Given the description of an element on the screen output the (x, y) to click on. 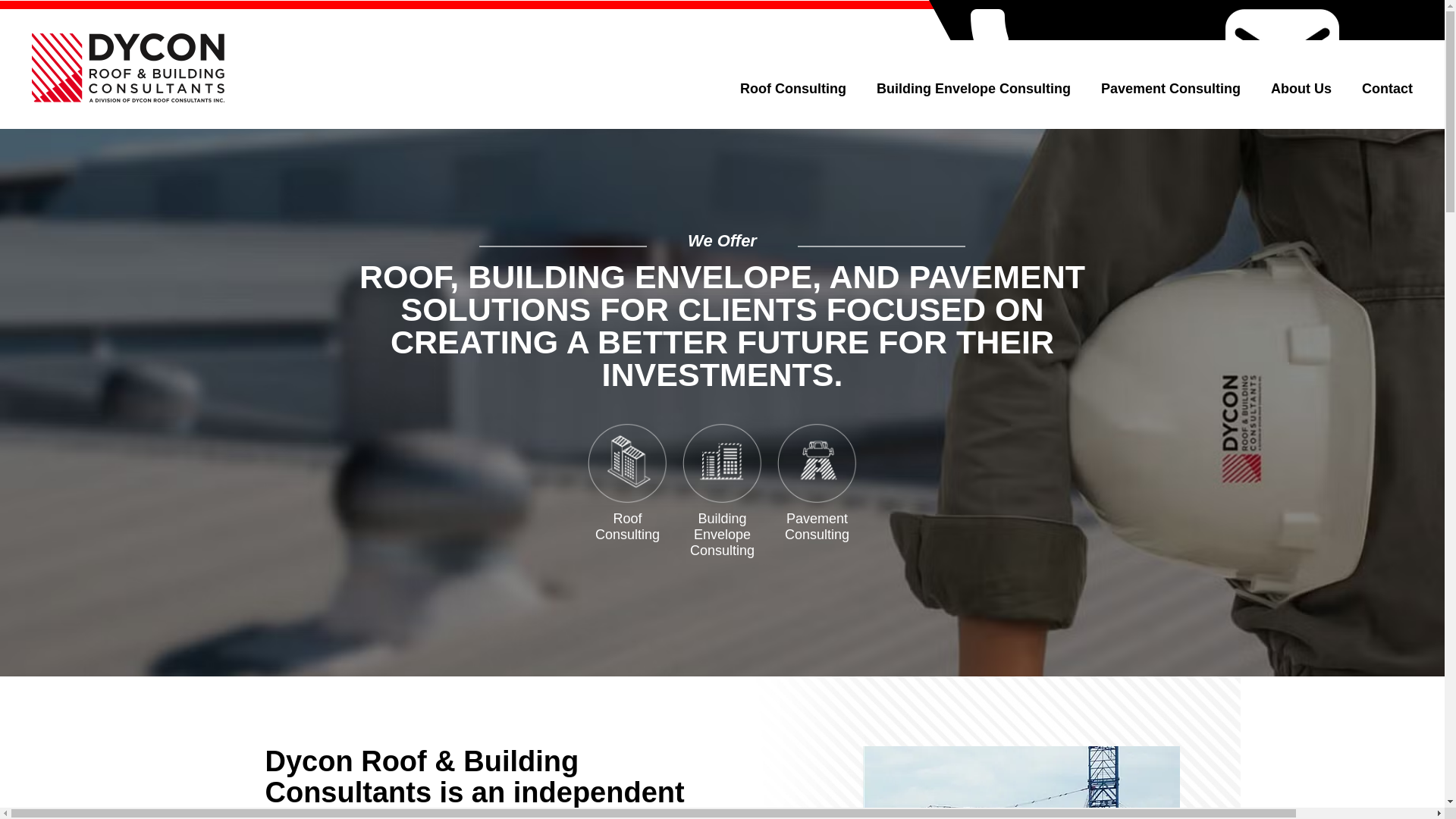
About Us (1305, 99)
1.800.749.8609 (1141, 65)
Pavement Consulting (1173, 99)
Roof Consulting (796, 99)
Building Envelope Consulting (977, 99)
